Given the description of an element on the screen output the (x, y) to click on. 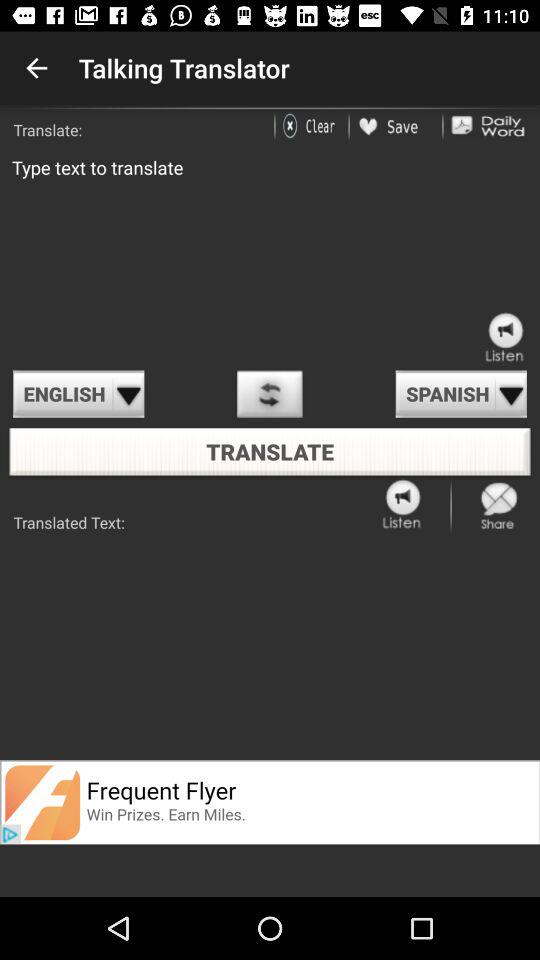
go to daily word (488, 125)
